Given the description of an element on the screen output the (x, y) to click on. 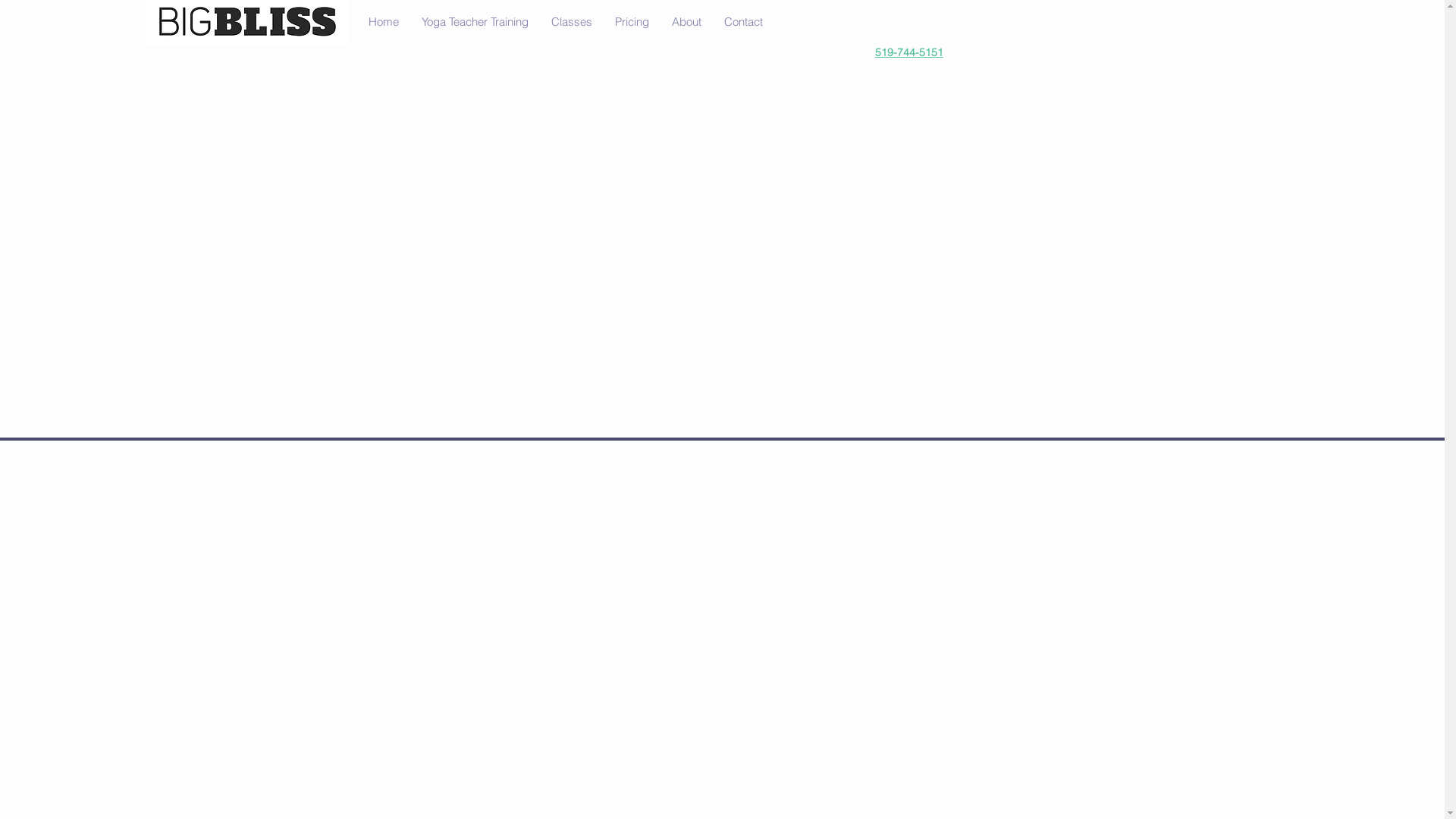
Pricing Element type: text (631, 21)
Yoga Teacher Training Element type: text (474, 21)
Home Element type: text (382, 21)
About Element type: text (685, 21)
519-744-5151 Element type: text (909, 52)
Contact Element type: text (743, 21)
Classes Element type: text (571, 21)
